Given the description of an element on the screen output the (x, y) to click on. 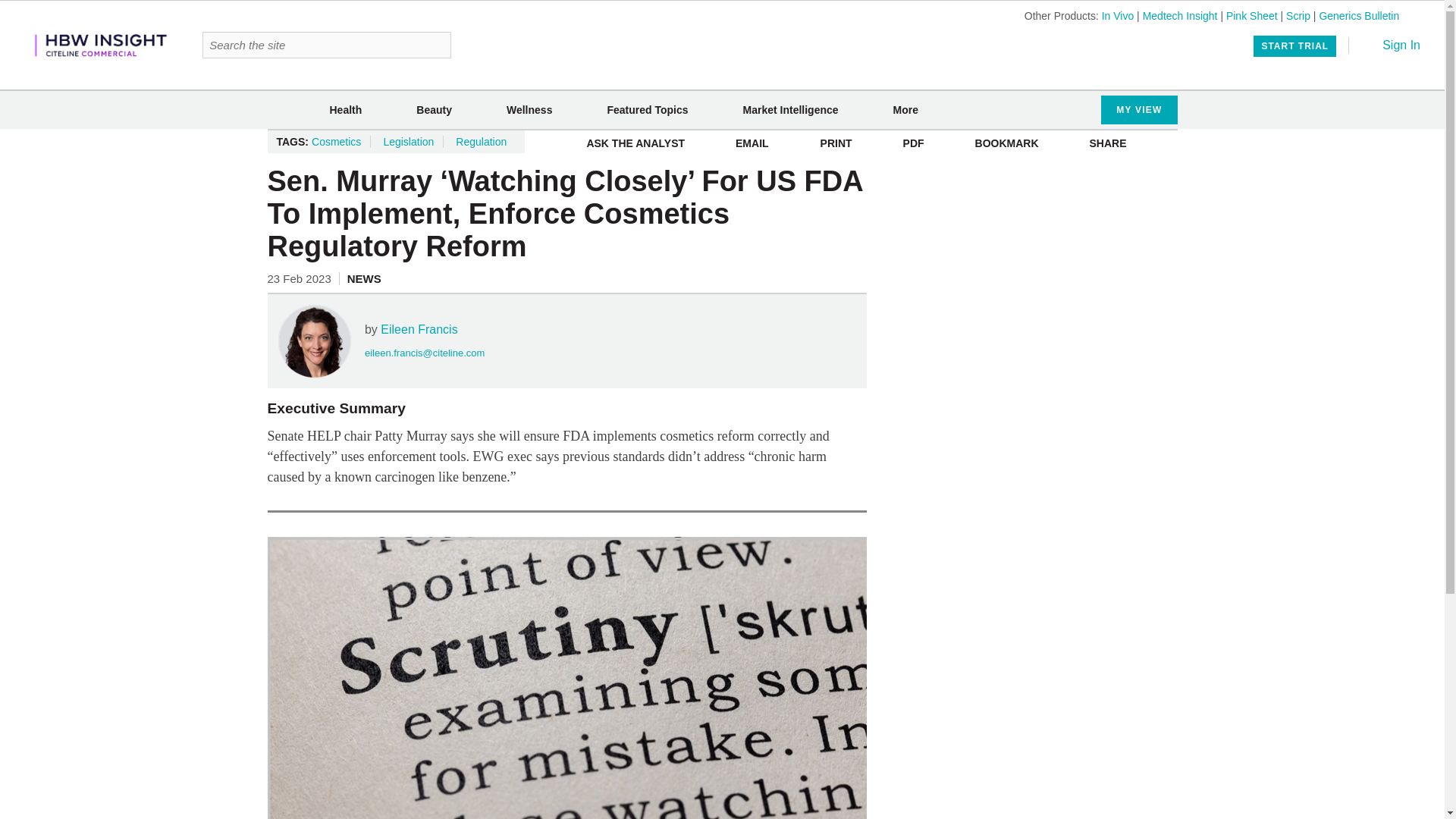
Market Intelligence (790, 110)
Health (345, 110)
Scrip (1297, 15)
Pink Sheet (1251, 15)
Medtech Insight (1179, 15)
In Vivo (1118, 15)
Generics Bulletin (1359, 15)
Beauty (433, 110)
Sign In (1391, 44)
Wellness (528, 110)
START TRIAL (1294, 46)
